Given the description of an element on the screen output the (x, y) to click on. 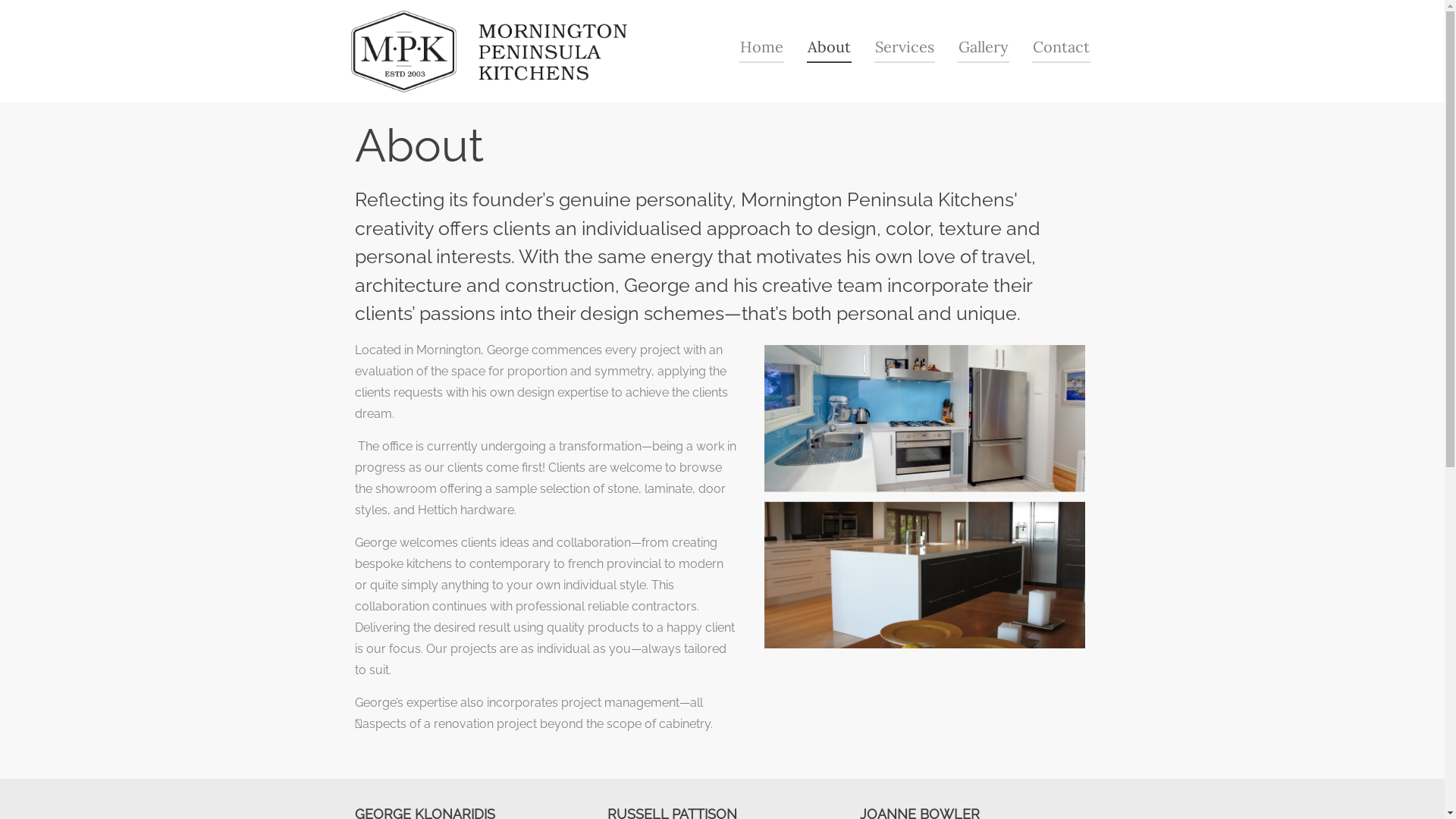
About Element type: text (828, 47)
Services Element type: text (903, 47)
Gallery Element type: text (982, 47)
Contact Element type: text (1060, 47)
Home Element type: text (760, 47)
